Given the description of an element on the screen output the (x, y) to click on. 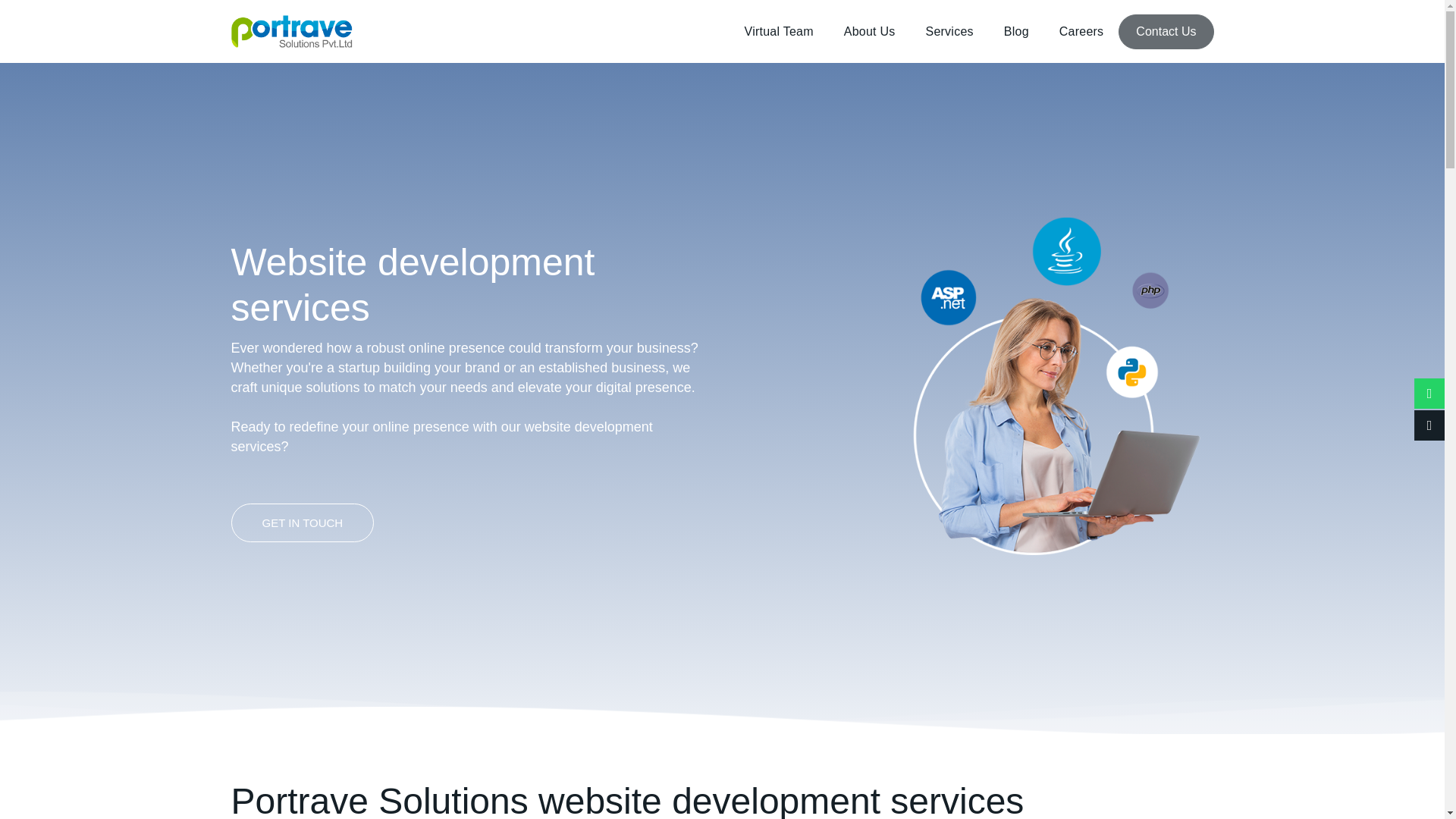
Virtual Team (778, 31)
Contact Us (1165, 31)
Services (949, 31)
About Us (869, 31)
Careers (1081, 31)
Blog (1015, 31)
GET IN TOUCH (302, 522)
